Given the description of an element on the screen output the (x, y) to click on. 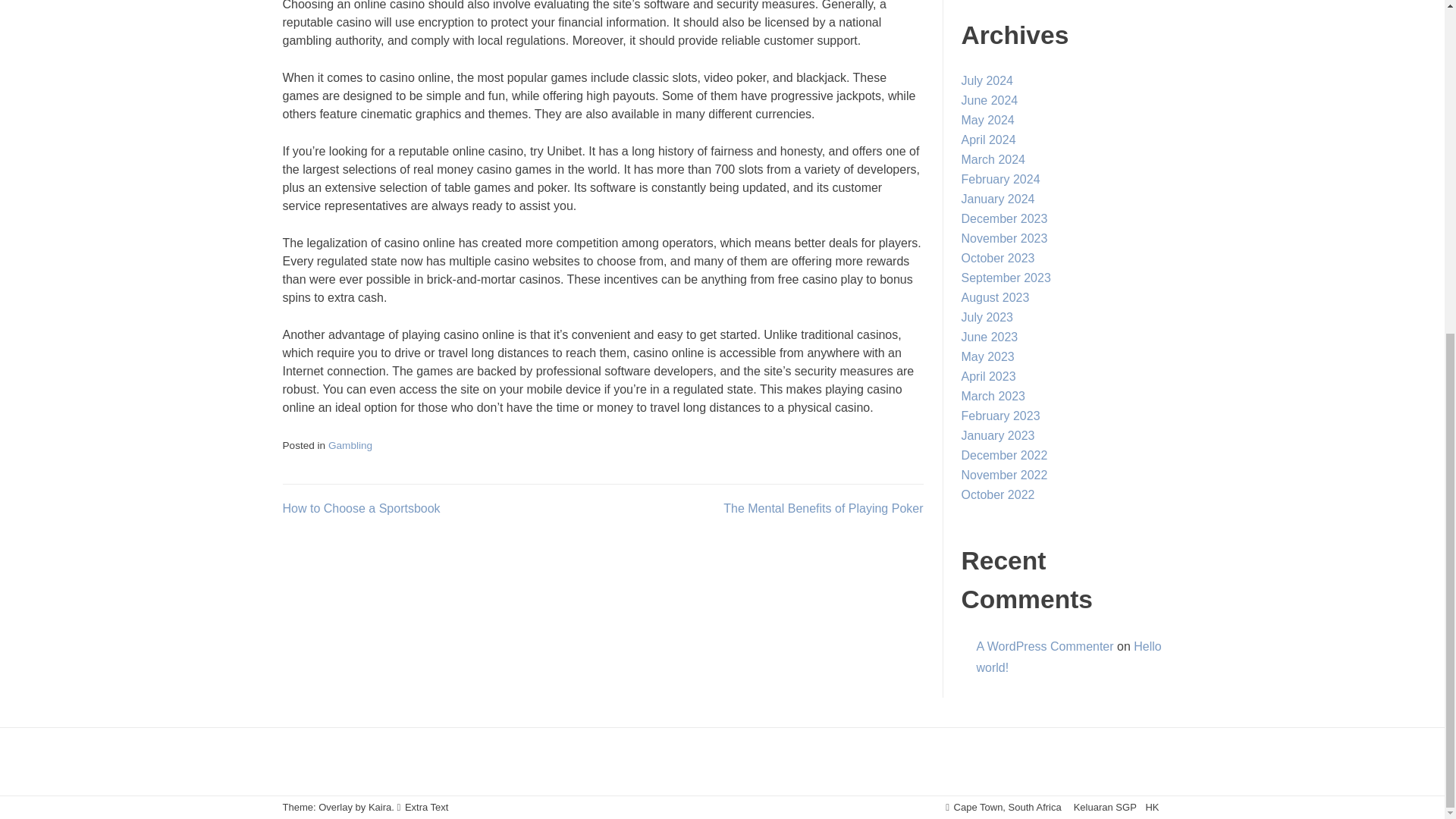
April 2023 (988, 376)
July 2023 (986, 317)
September 2023 (1005, 277)
May 2024 (987, 119)
March 2024 (993, 159)
April 2024 (988, 139)
February 2024 (1000, 178)
Gambling (350, 445)
February 2023 (1000, 415)
June 2023 (988, 336)
January 2024 (997, 198)
The Mental Benefits of Playing Poker (823, 508)
December 2023 (1004, 218)
March 2023 (993, 395)
May 2023 (987, 356)
